Given the description of an element on the screen output the (x, y) to click on. 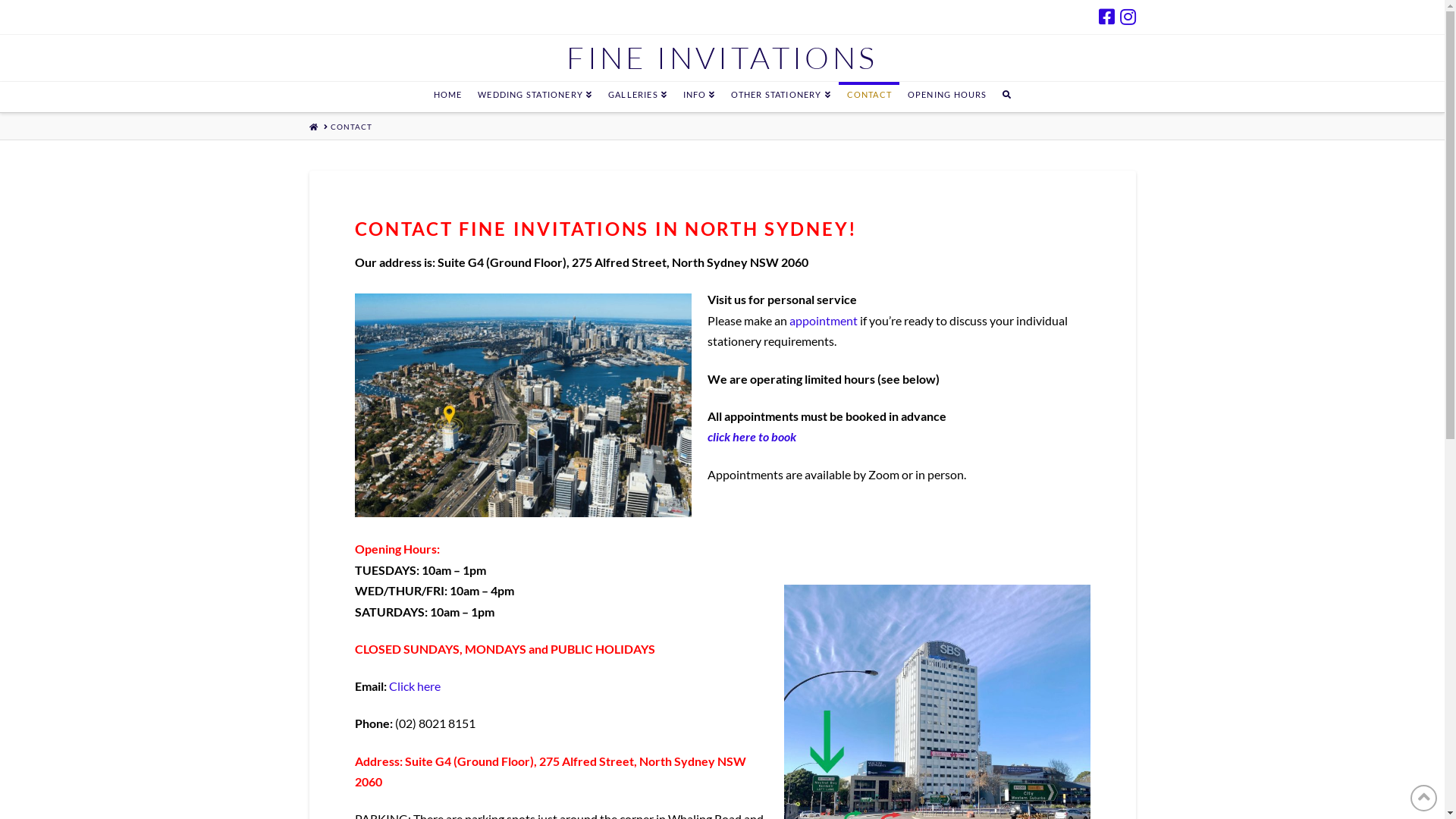
FINE INVITATIONS Element type: text (721, 57)
CONTACT Element type: text (351, 126)
WEDDING STATIONERY Element type: text (534, 96)
click here to book Element type: text (751, 436)
Instagram Element type: hover (1127, 16)
Click here Element type: text (413, 685)
Back to Top Element type: hover (1423, 797)
GALLERIES Element type: text (636, 96)
appointment Element type: text (823, 320)
OPENING HOURS Element type: text (946, 96)
HOME Element type: text (447, 96)
CONTACT Element type: text (868, 96)
INFO Element type: text (698, 96)
HOME Element type: text (313, 126)
Facebook Element type: hover (1105, 16)
OTHER STATIONERY Element type: text (779, 96)
